Given the description of an element on the screen output the (x, y) to click on. 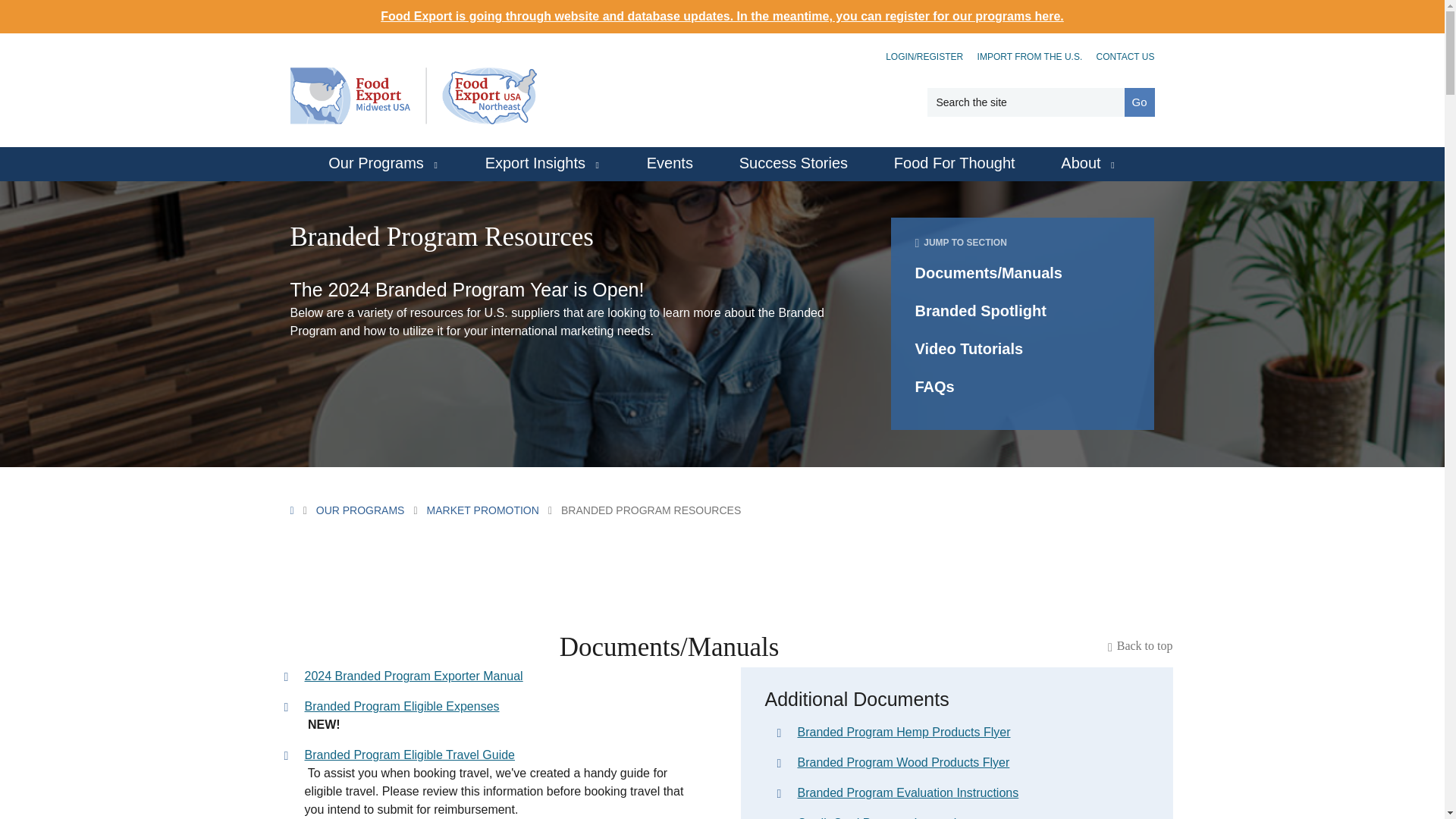
CONTACT US (1125, 56)
Branded Program Evaluation Instructions (972, 792)
IMPORT FROM THE U.S. (1029, 56)
Branded Program Wood Products Flyer (972, 762)
Branded Program Eligible Expenses (504, 706)
Our Programs (383, 163)
Search input (1025, 102)
Go (1139, 102)
Credit Card Payment Instructions (972, 816)
